Given the description of an element on the screen output the (x, y) to click on. 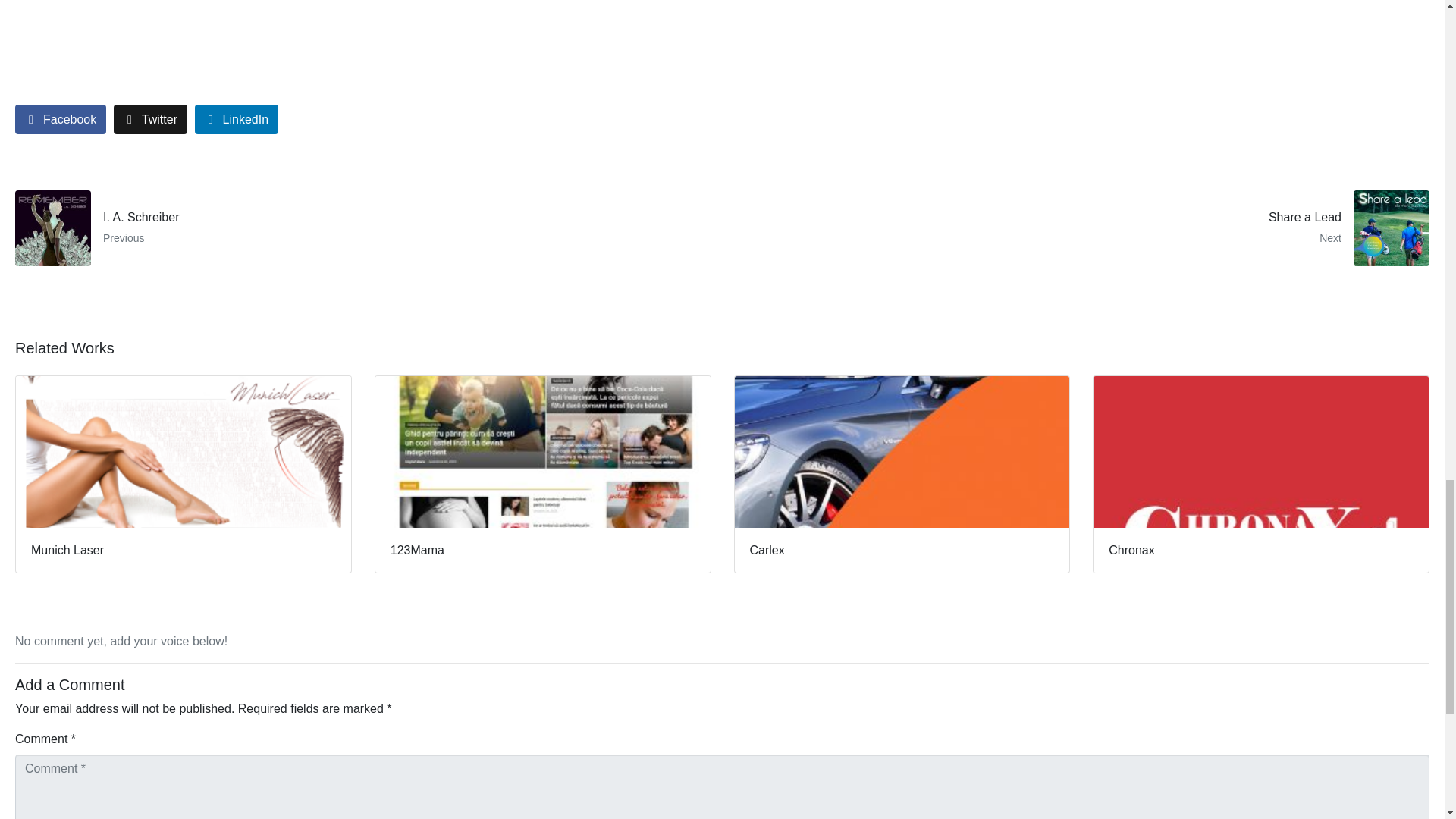
LinkedIn (237, 119)
Share a Lead (363, 228)
Munich Laser (1081, 228)
I. A. Schreiber (183, 474)
Chronax (1081, 228)
Twitter (363, 228)
Carlex (1261, 474)
Facebook (150, 119)
